Given the description of an element on the screen output the (x, y) to click on. 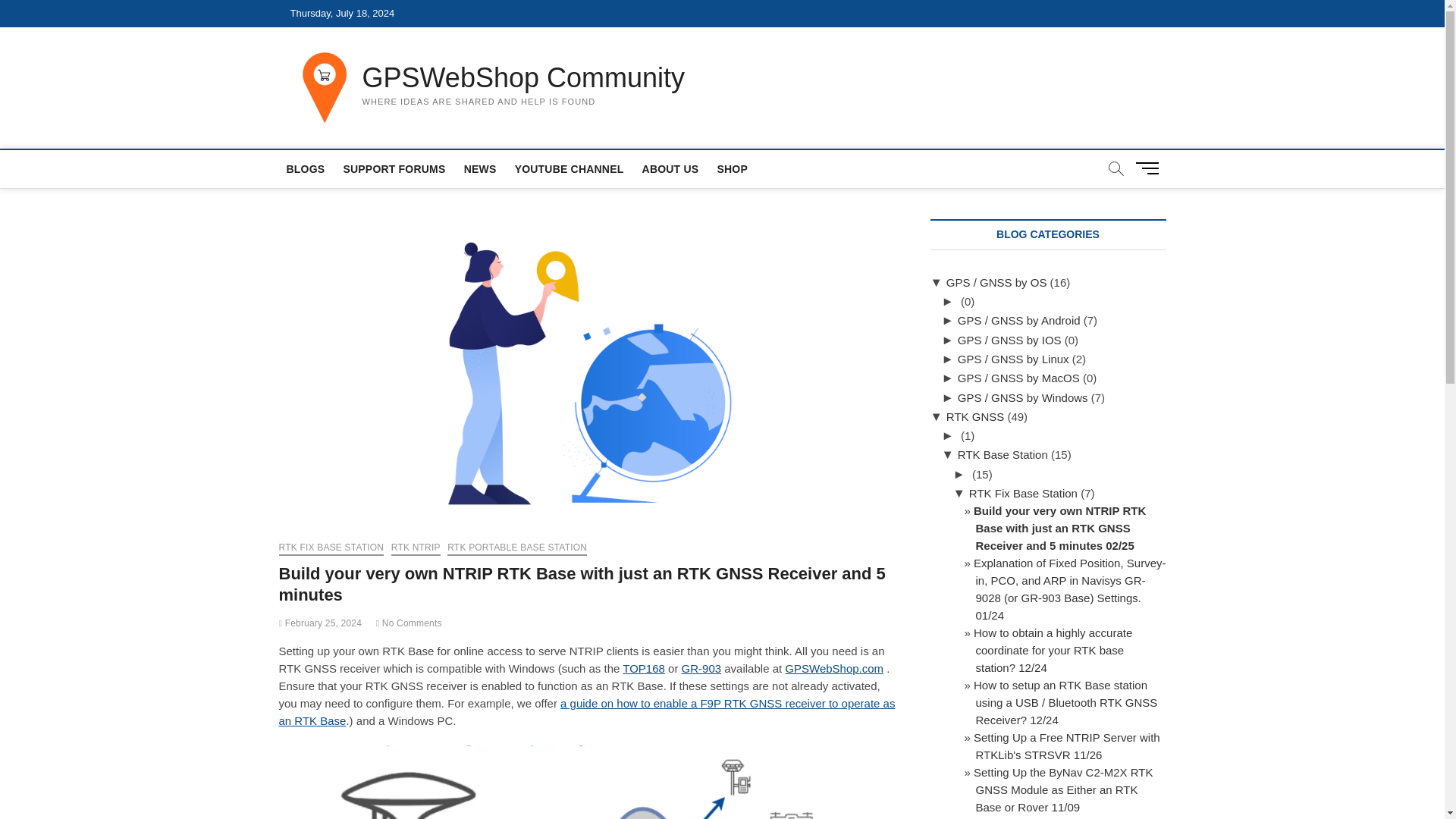
ABOUT US (670, 168)
RTK FIX BASE STATION (331, 549)
RTK Base Station desciption (1003, 454)
BLOGS (306, 168)
Menu Button (1150, 167)
RTK PORTABLE BASE STATION (516, 549)
YOUTUBE CHANNEL (568, 168)
GPSWebShop.com (833, 667)
Racing GNSS description (996, 282)
No Comments (408, 623)
February 25, 2024 (320, 623)
TOP168 (644, 667)
NEWS (480, 168)
GPSWebShop Community (523, 78)
